Given the description of an element on the screen output the (x, y) to click on. 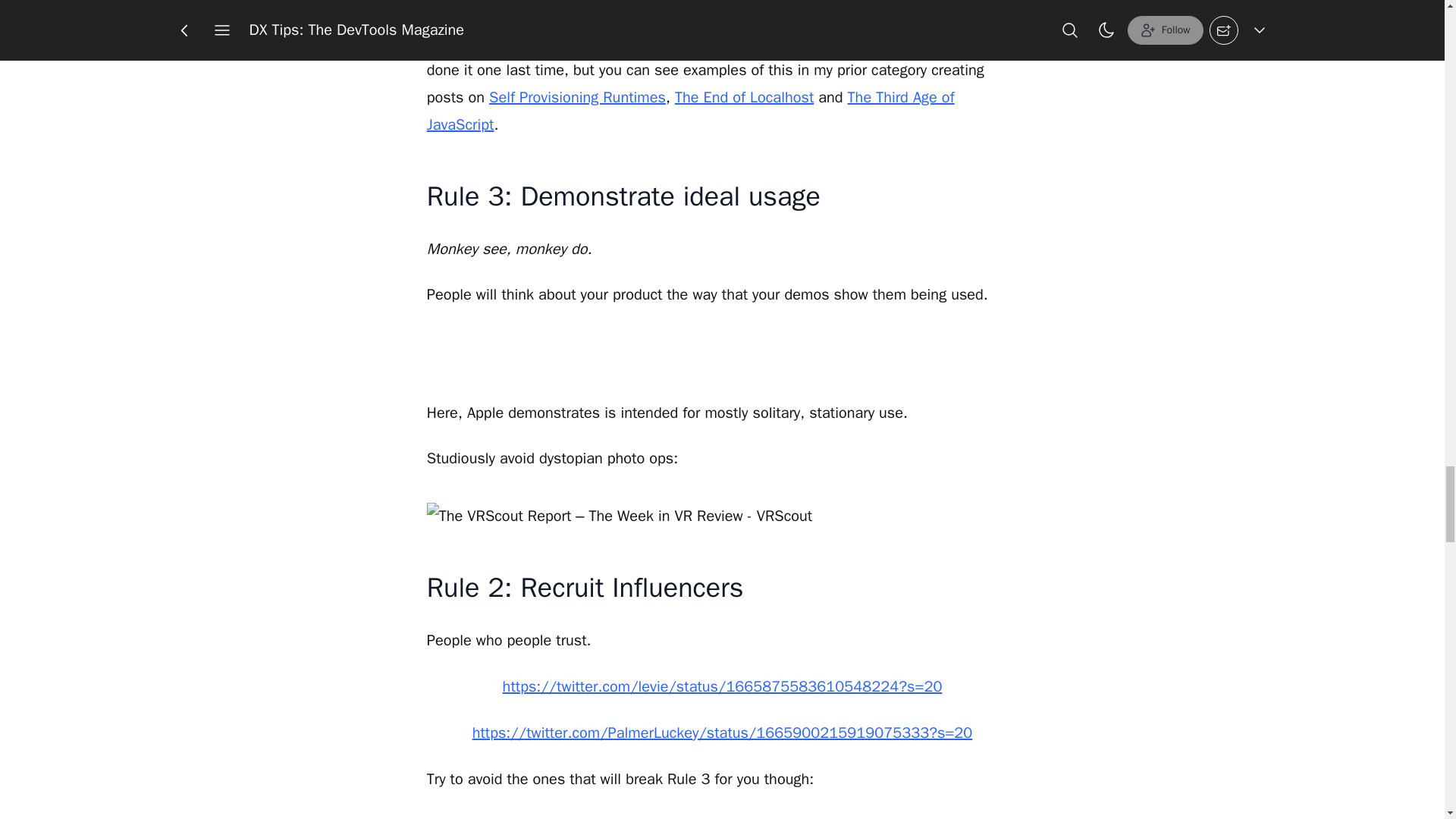
putting ORM on its landing page (855, 15)
not an ORM (710, 12)
Self Provisioning Runtimes (577, 97)
The End of Localhost (744, 97)
The Third Age of JavaScript (690, 110)
